Given the description of an element on the screen output the (x, y) to click on. 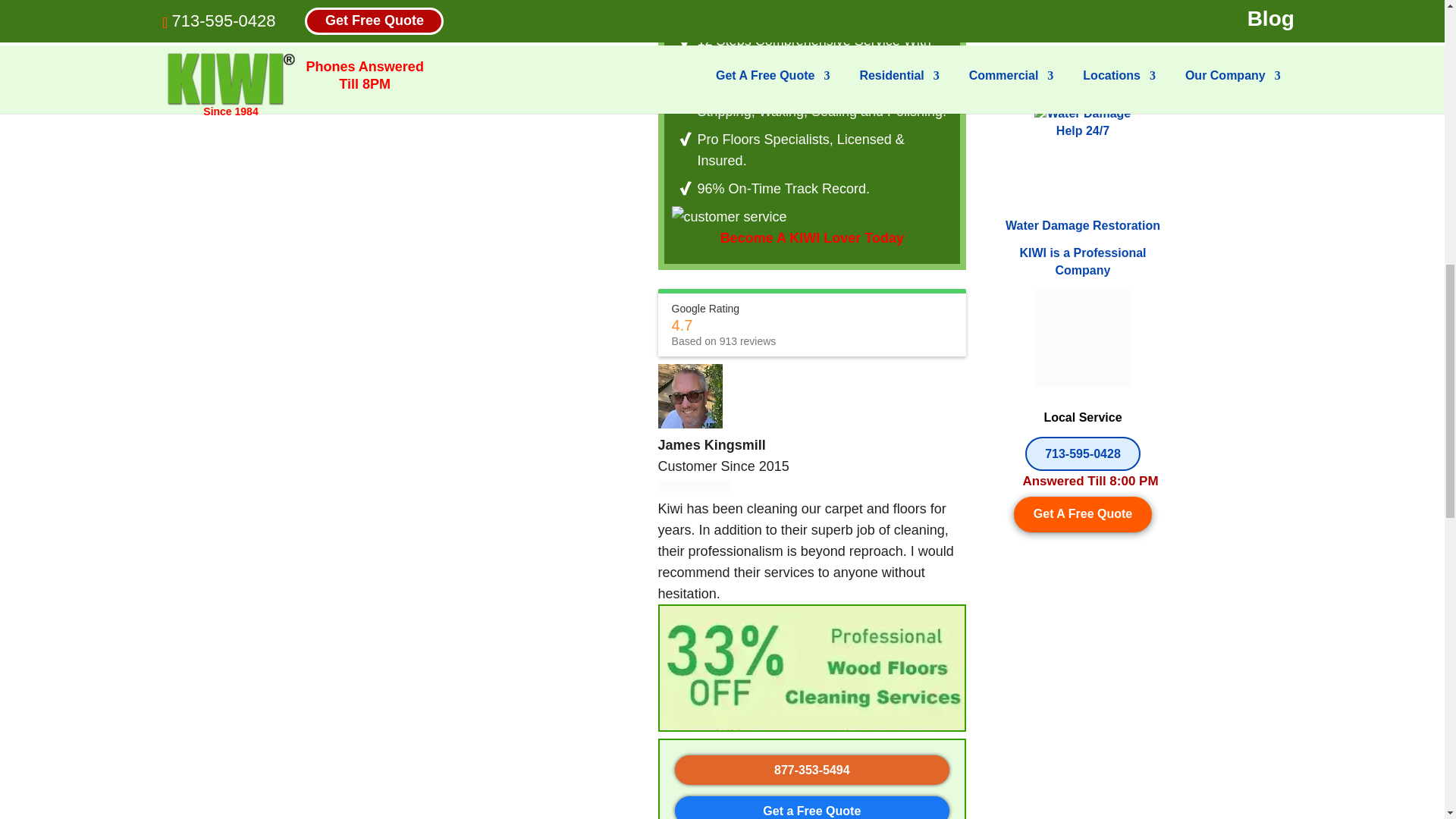
Get a Free Quote (811, 810)
877-353-5494 (812, 769)
